Given the description of an element on the screen output the (x, y) to click on. 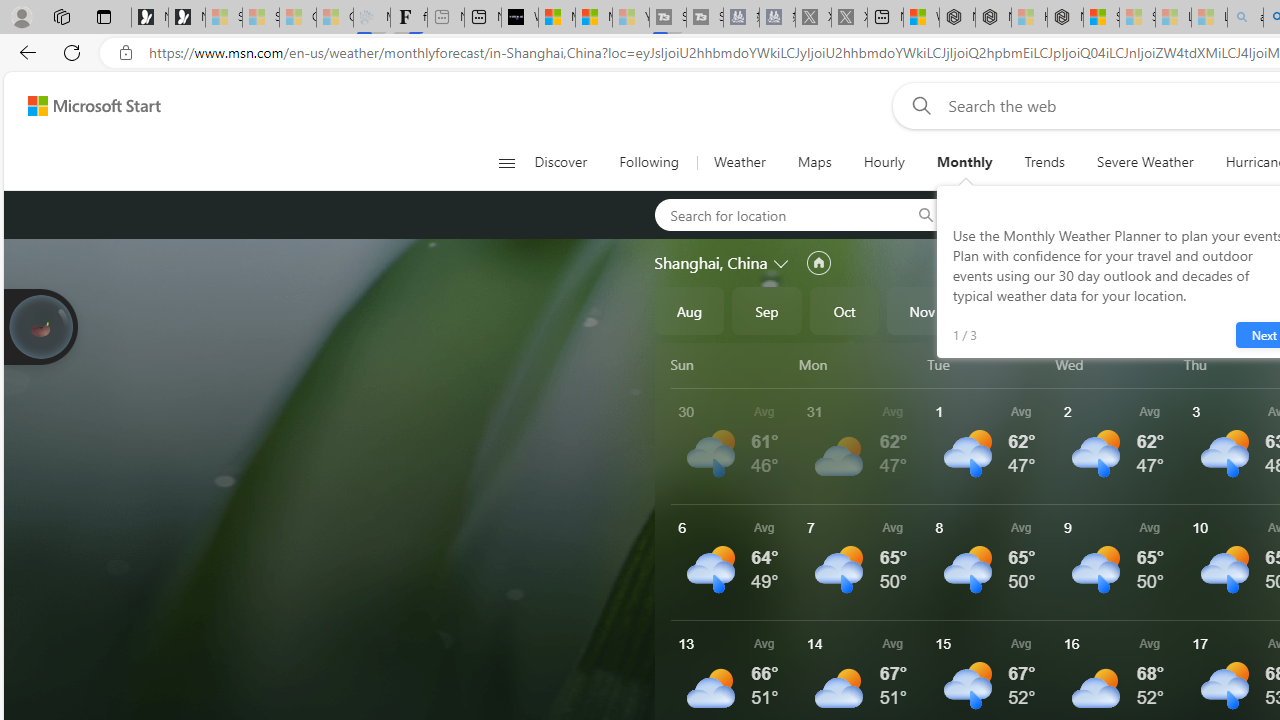
Class: button-glyph (505, 162)
Remove location (1149, 214)
Monthly (964, 162)
Oct (844, 310)
Maps (813, 162)
Skip to content (86, 105)
Trends (1044, 162)
